Given the description of an element on the screen output the (x, y) to click on. 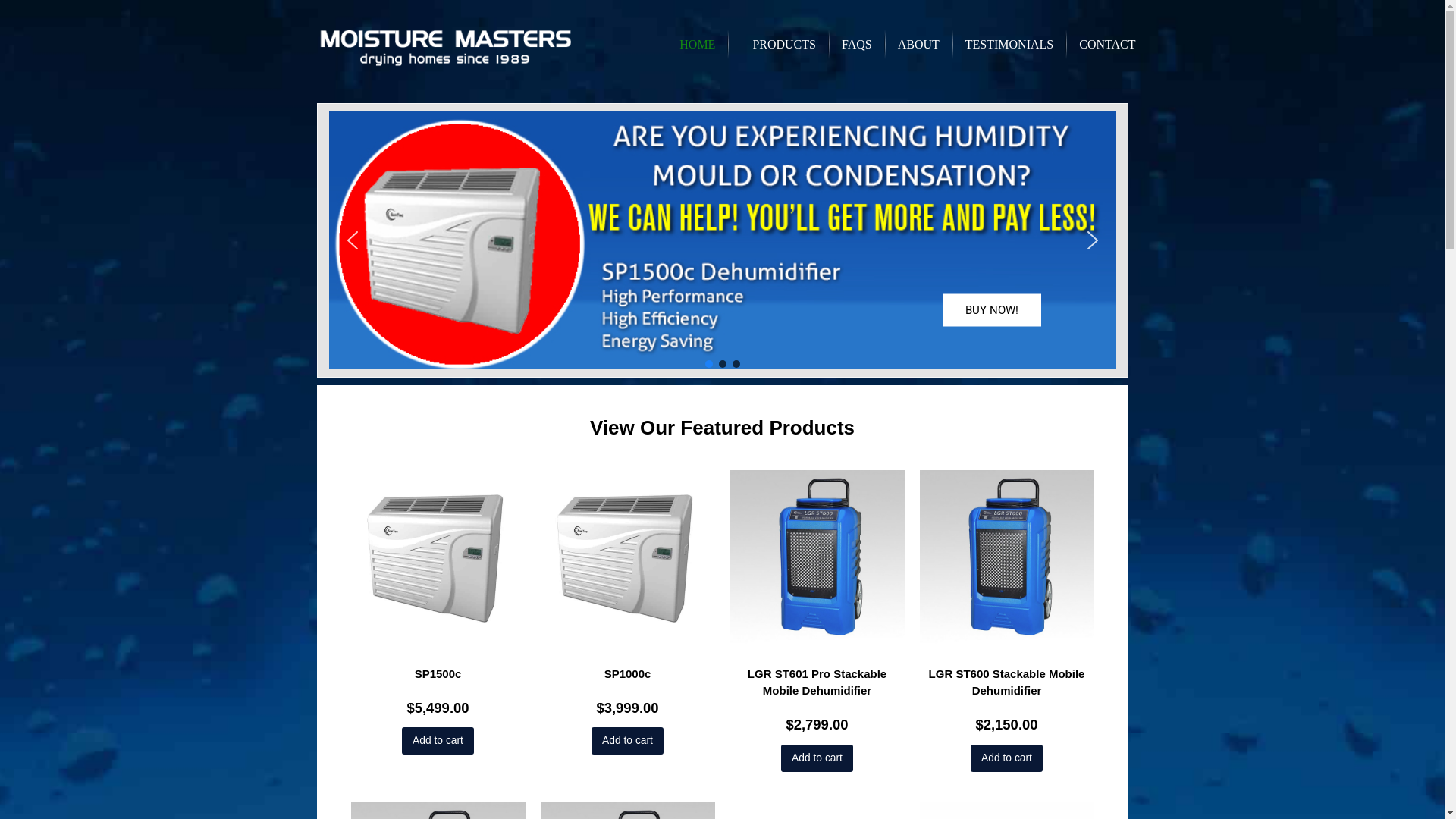
Add to cart Element type: text (817, 757)
LGR ST600 Stackable Mobile Dehumidifier
$2,150.00 Element type: text (1006, 616)
ABOUT Element type: text (918, 43)
MOISTURE MASTERS Element type: hover (445, 45)
LGR ST601 Pro Stackable Mobile Dehumidifier
$2,799.00 Element type: text (816, 616)
HOME Element type: text (697, 43)
Add to cart Element type: text (437, 740)
Add to cart Element type: text (1006, 757)
FAQS Element type: text (856, 43)
SP1000c
$3,999.00 Element type: text (626, 608)
Add to cart Element type: text (627, 740)
BUY NOW! Element type: text (990, 310)
TESTIMONIALS Element type: text (1009, 43)
SP1500c
$5,499.00 Element type: text (437, 608)
PRODUCTS Element type: text (778, 43)
CONTACT Element type: text (1107, 43)
